Given the description of an element on the screen output the (x, y) to click on. 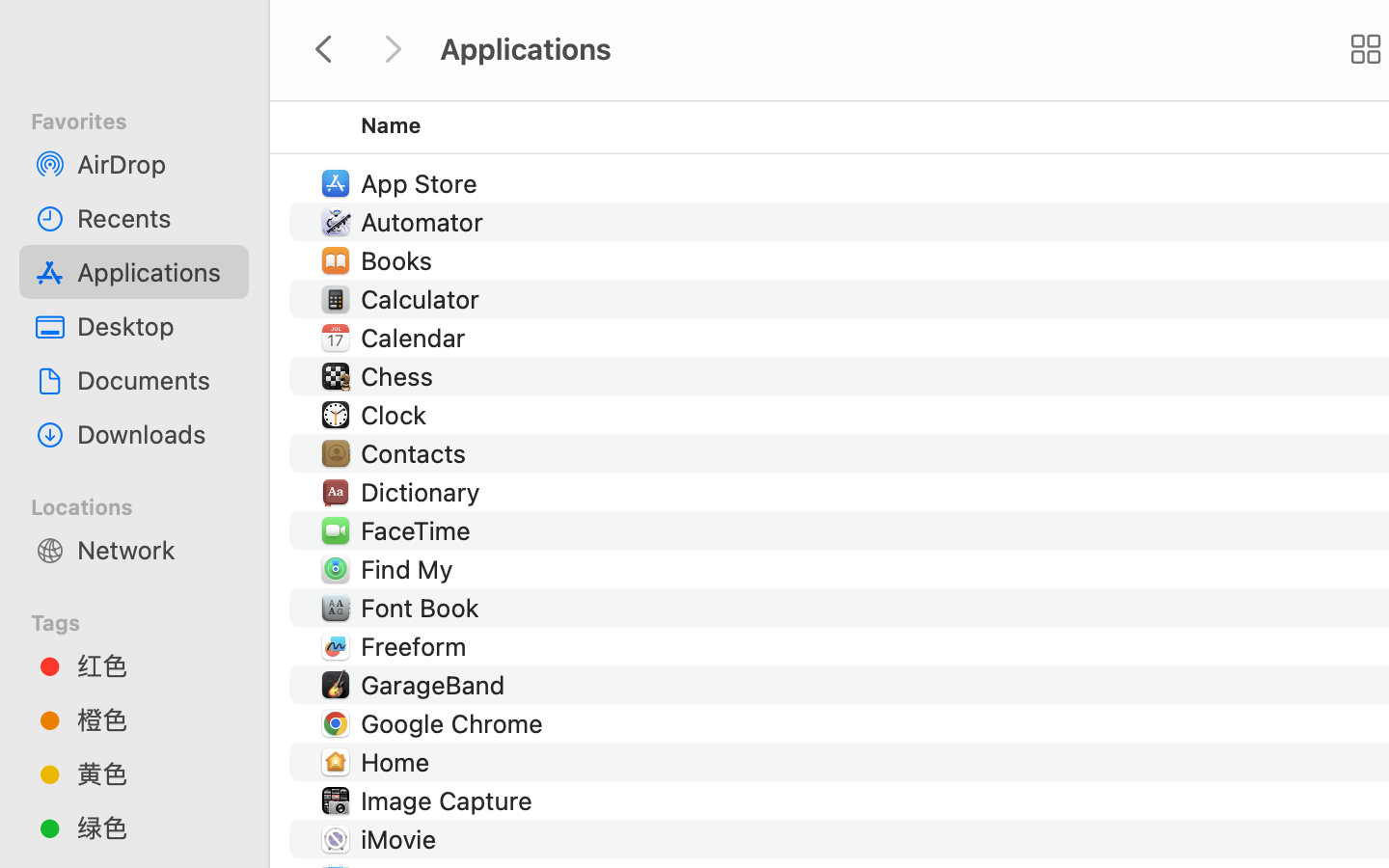
Favorites Element type: AXStaticText (145, 118)
Desktop Element type: AXStaticText (155, 325)
Dictionary Element type: AXTextField (423, 491)
红色 Element type: AXStaticText (155, 665)
Locations Element type: AXStaticText (145, 504)
